Given the description of an element on the screen output the (x, y) to click on. 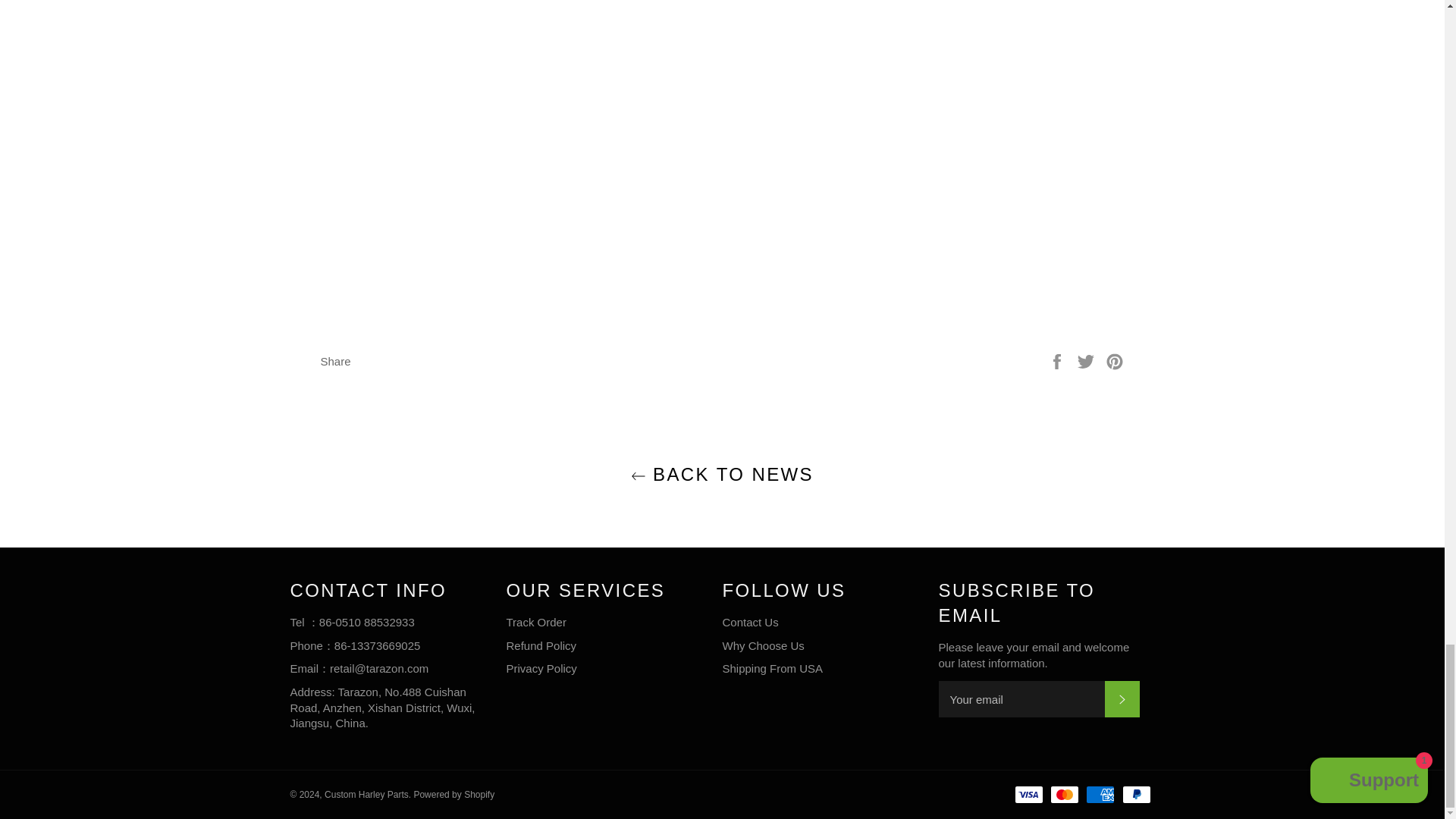
Tweet on Twitter (1087, 359)
Pin on Pinterest (1114, 359)
Share on Facebook (1058, 359)
